Given the description of an element on the screen output the (x, y) to click on. 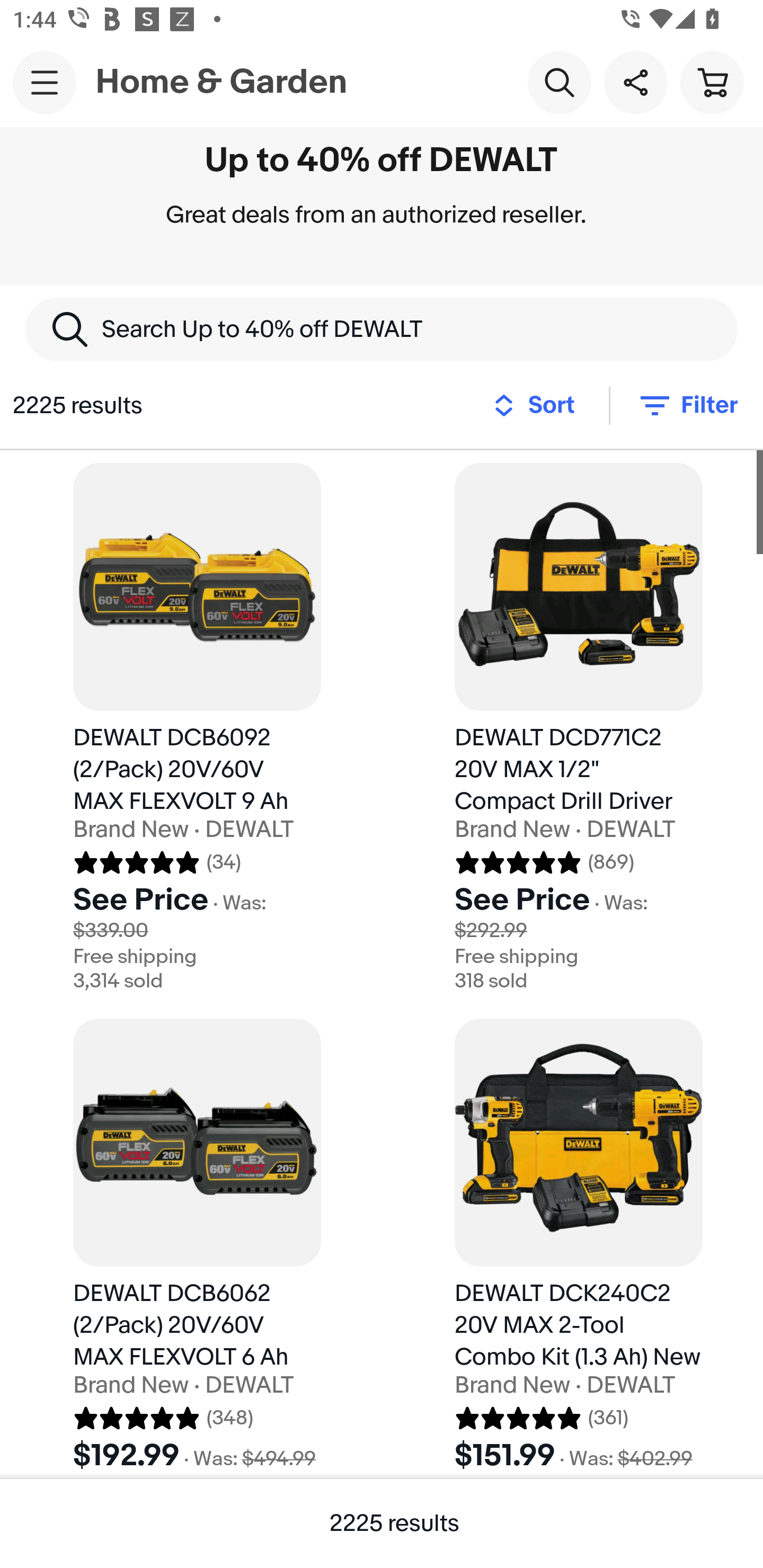
Main navigation, open (44, 82)
Search (559, 81)
Share this page (635, 81)
Cart button shopping cart (711, 81)
Search Up to 40% off DEWALT (381, 328)
Sort (538, 405)
Filter (686, 405)
